Given the description of an element on the screen output the (x, y) to click on. 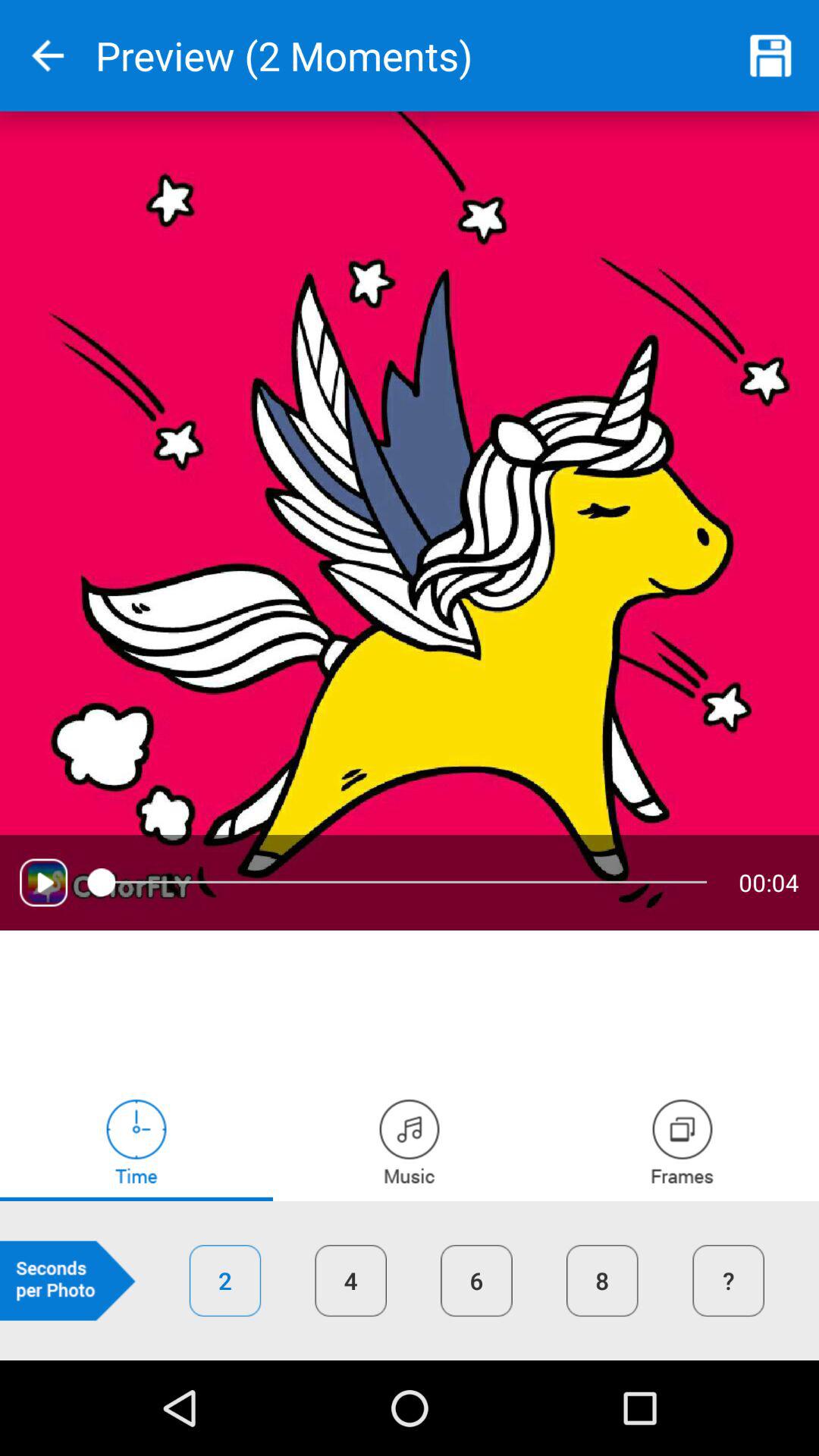
music button (409, 1141)
